Given the description of an element on the screen output the (x, y) to click on. 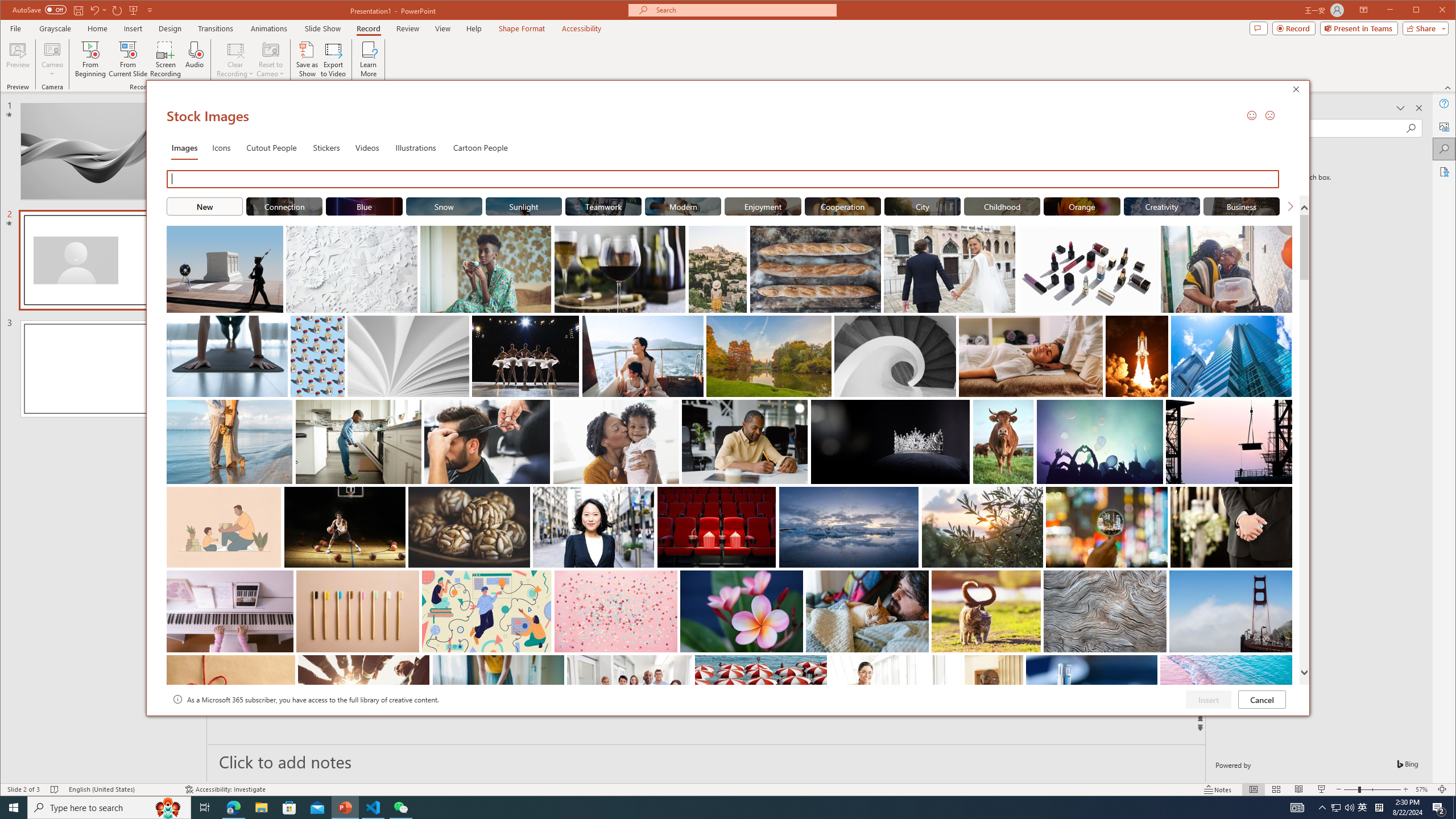
"Connection" Stock Images. (283, 206)
Send a Smile (1251, 115)
Thumbnail (1283, 663)
"Enjoyment" Stock Images. (762, 206)
Search Stock Images (724, 178)
Stickers (326, 147)
